Given the description of an element on the screen output the (x, y) to click on. 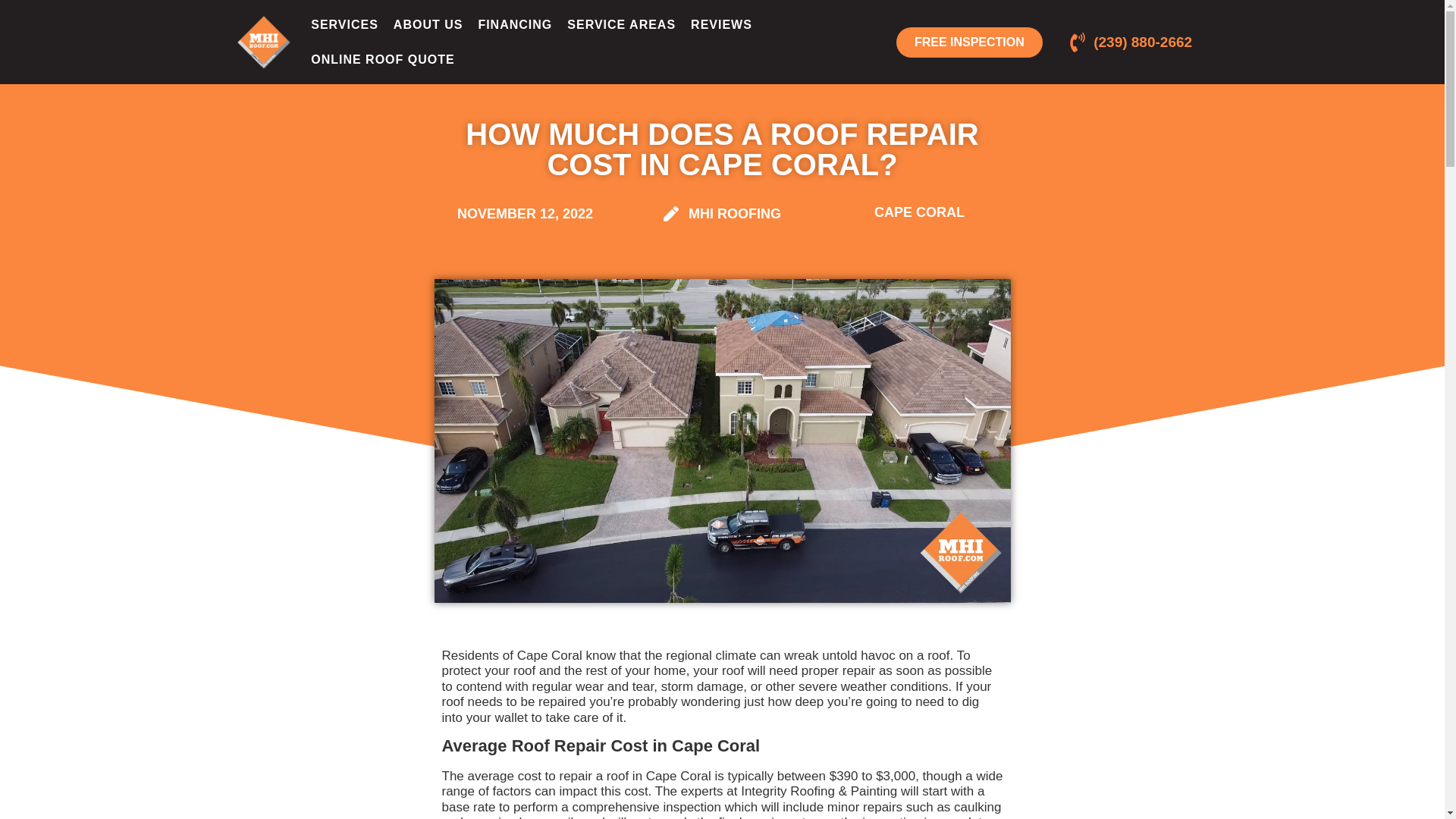
ABOUT US (427, 24)
FINANCING (514, 24)
SERVICES (343, 24)
REVIEWS (721, 24)
ONLINE ROOF QUOTE (381, 59)
SERVICE AREAS (620, 24)
